Given the description of an element on the screen output the (x, y) to click on. 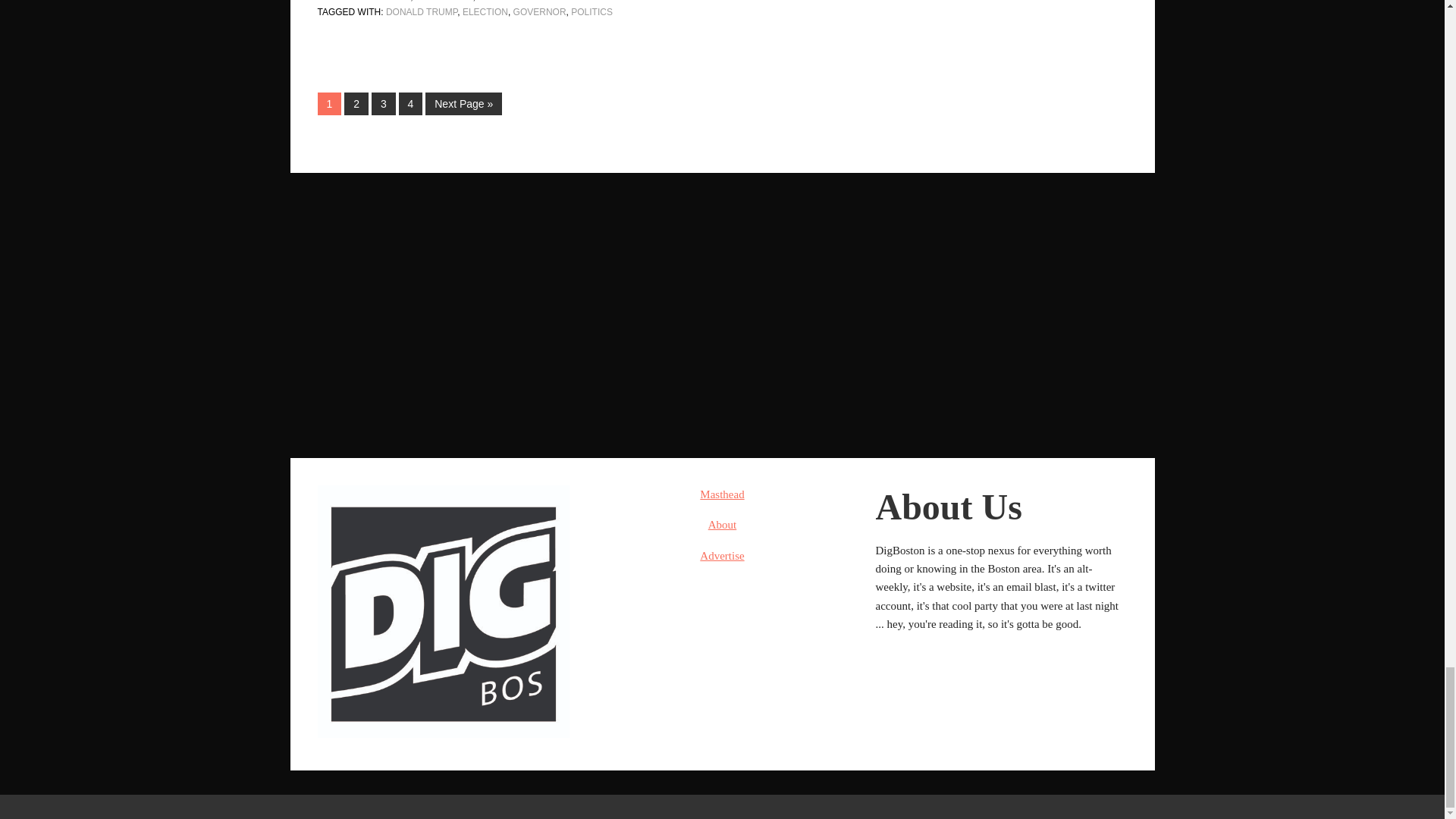
About (721, 524)
Advertise (722, 555)
Masthead (722, 494)
